Given the description of an element on the screen output the (x, y) to click on. 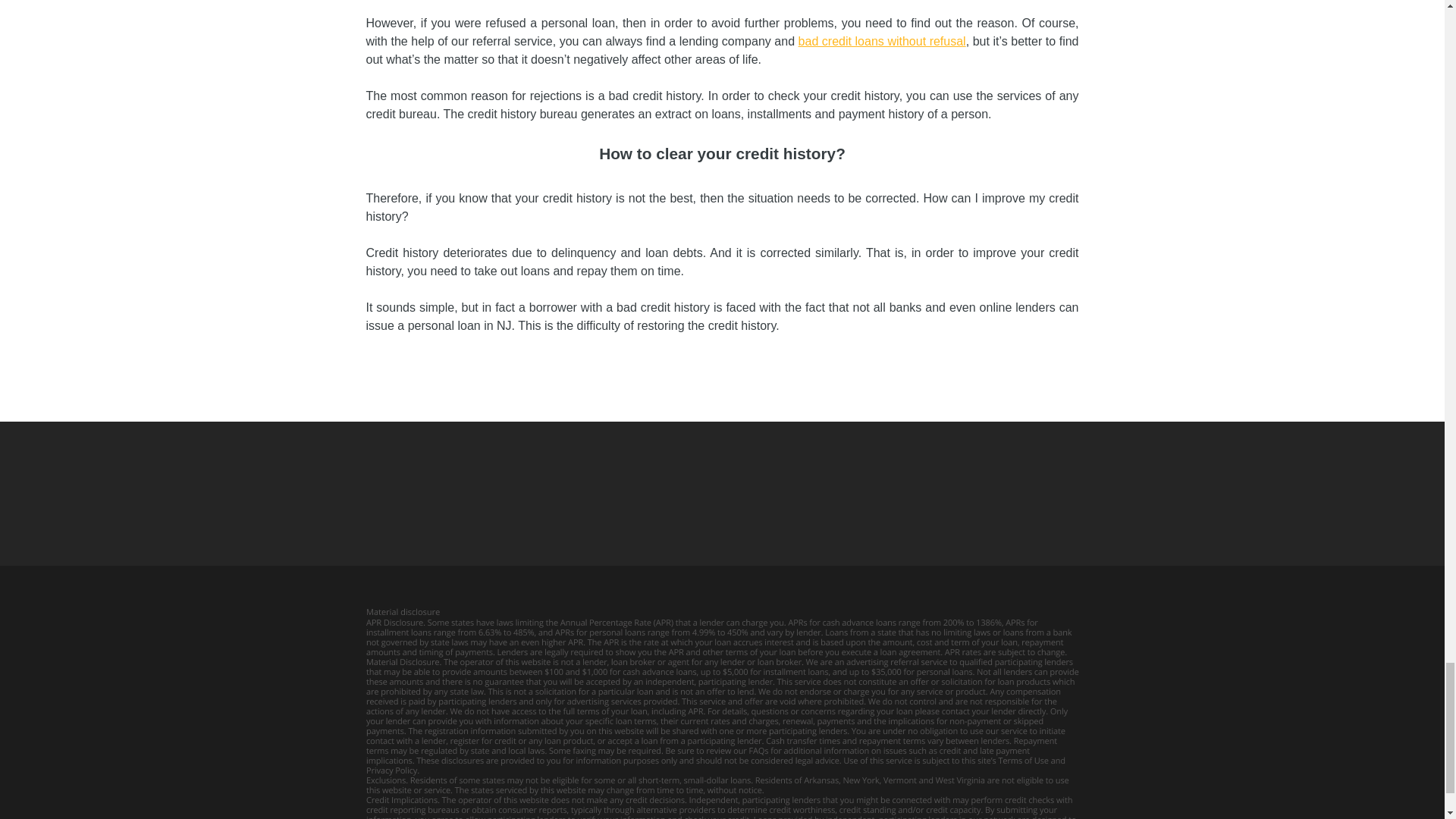
McAfee (603, 493)
Bad credit loans without refusal (881, 41)
